Given the description of an element on the screen output the (x, y) to click on. 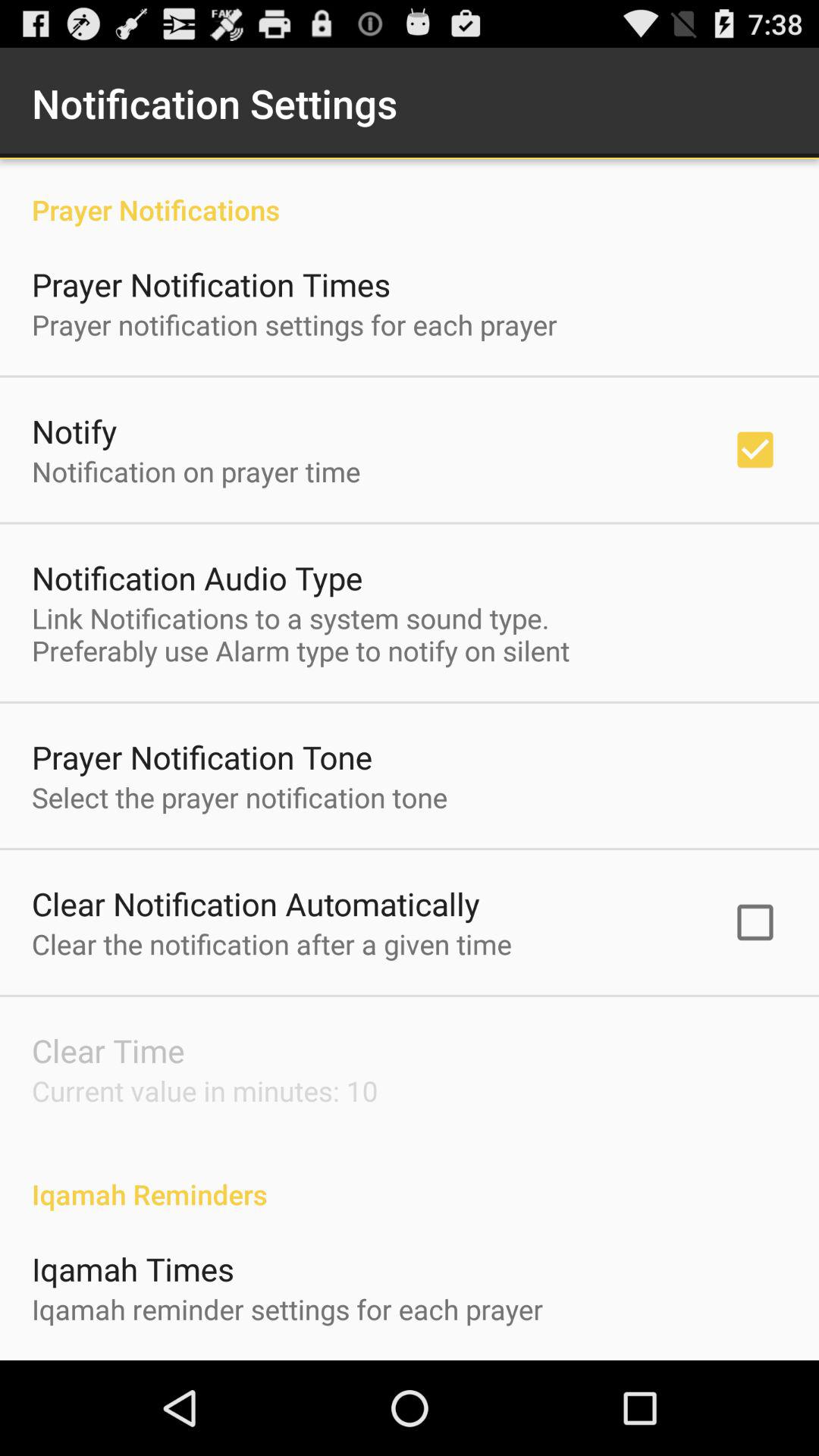
open iqamah times app (132, 1268)
